Given the description of an element on the screen output the (x, y) to click on. 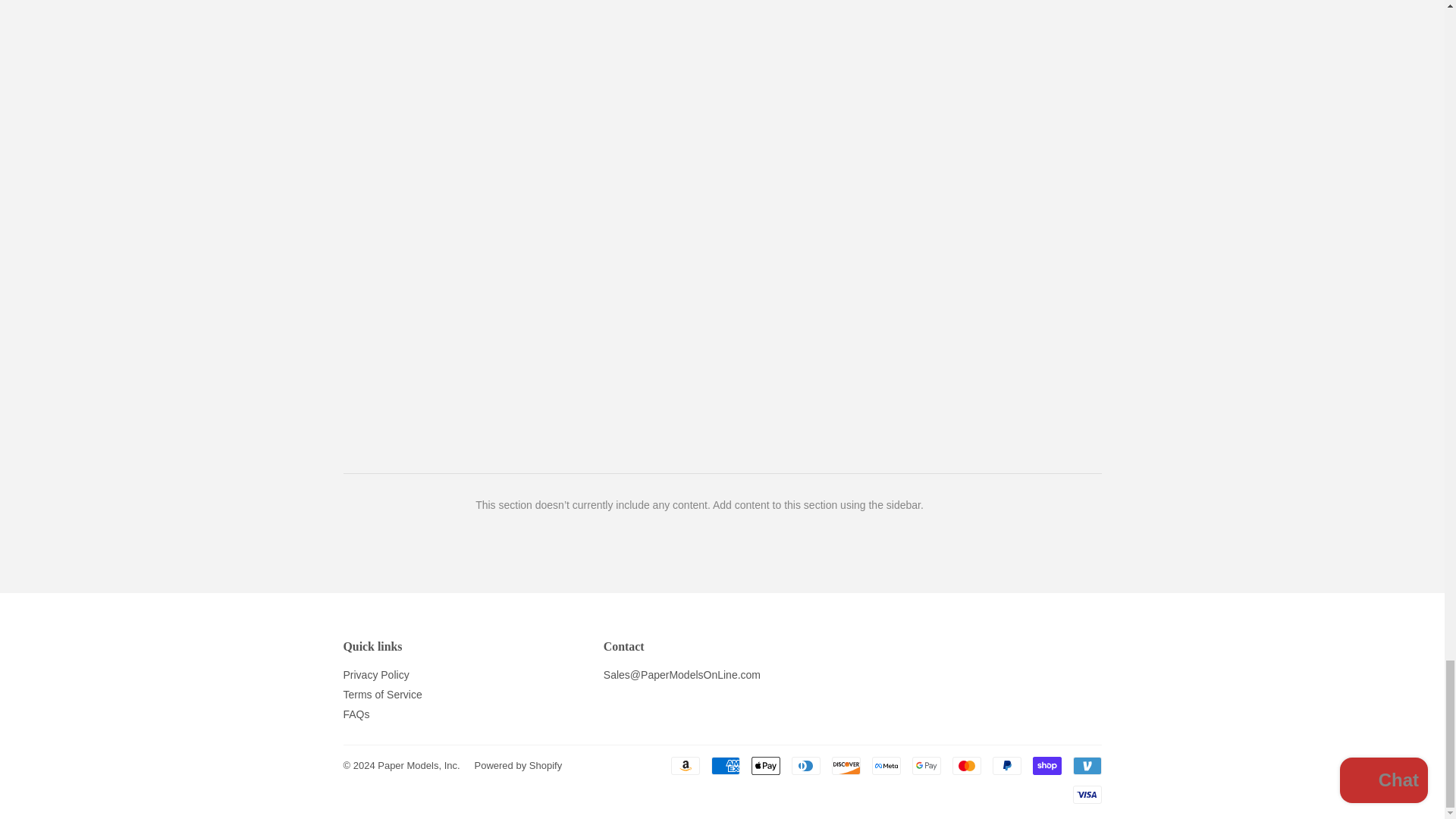
Venmo (1085, 765)
Discover (845, 765)
Meta Pay (886, 765)
American Express (725, 765)
Amazon (683, 765)
Diners Club (806, 765)
Shop Pay (1046, 765)
Google Pay (925, 765)
Mastercard (966, 765)
PayPal (1005, 765)
Apple Pay (764, 765)
Visa (1085, 794)
